Given the description of an element on the screen output the (x, y) to click on. 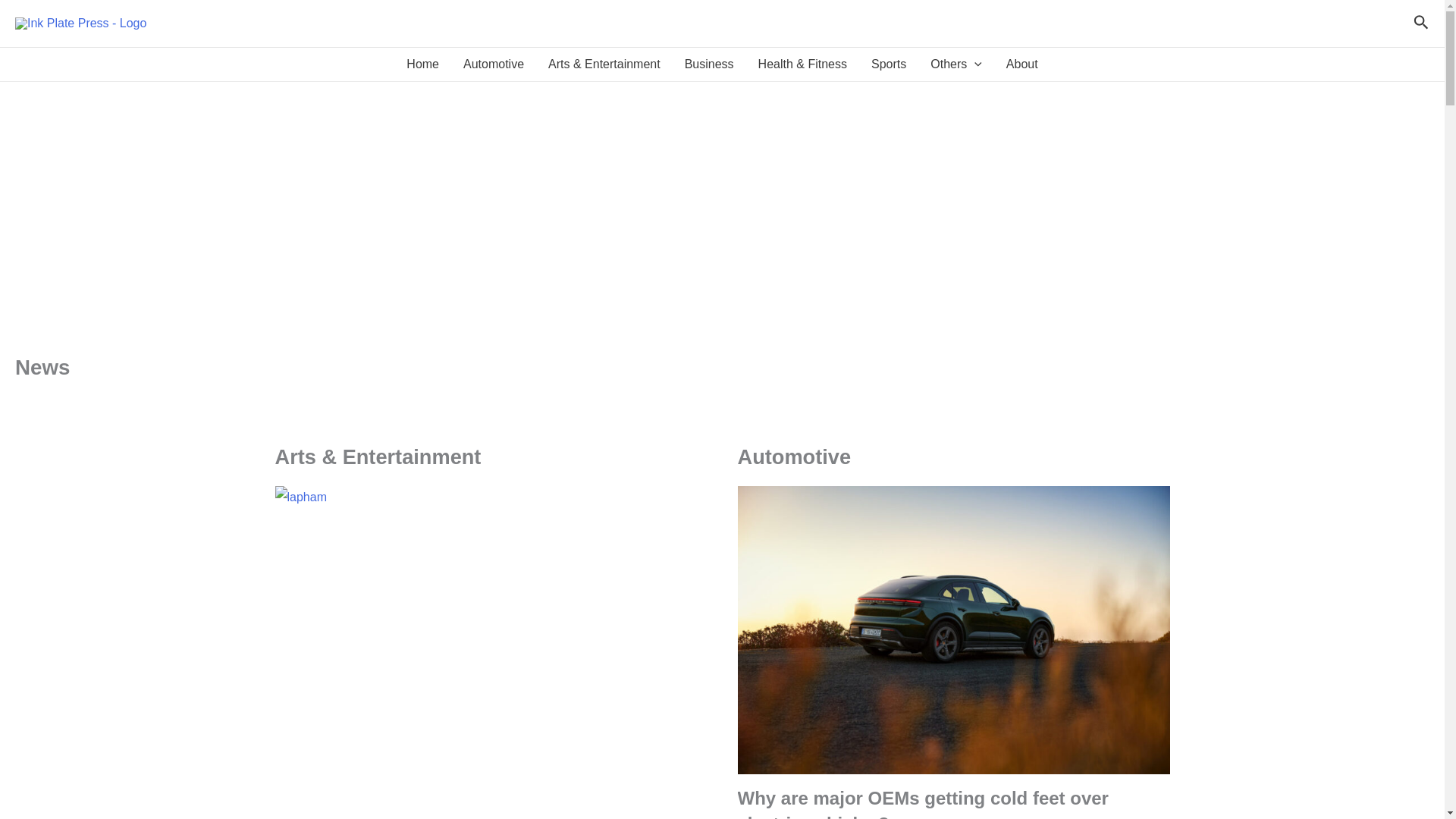
Home (422, 64)
About (1021, 64)
Others (956, 64)
Business (708, 64)
Automotive (493, 64)
Sports (888, 64)
